Given the description of an element on the screen output the (x, y) to click on. 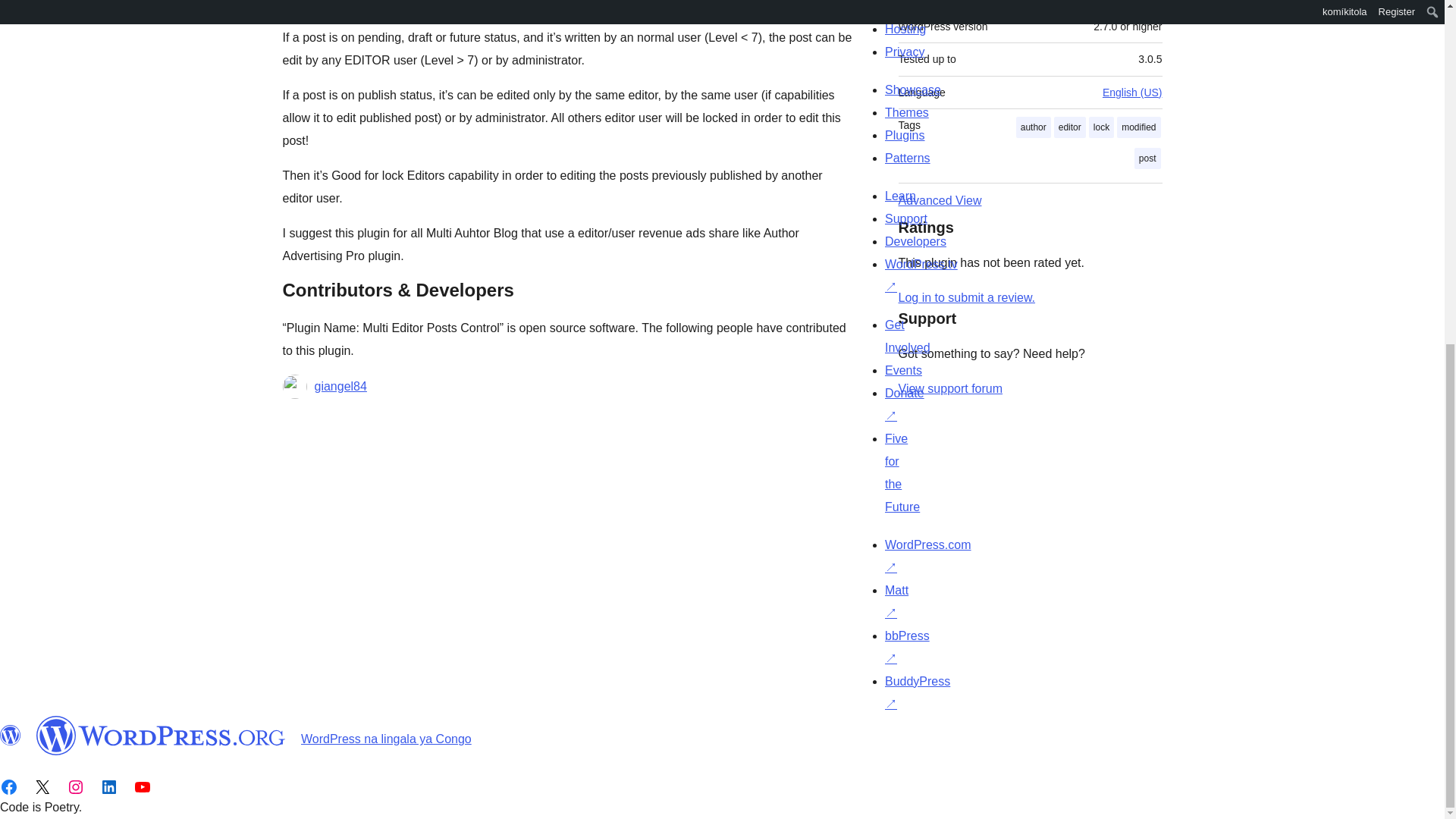
WordPress.org (10, 735)
WordPress.org (160, 735)
author (1033, 127)
giangel84 (340, 386)
editor (1070, 127)
Log in to WordPress.org (966, 297)
